Given the description of an element on the screen output the (x, y) to click on. 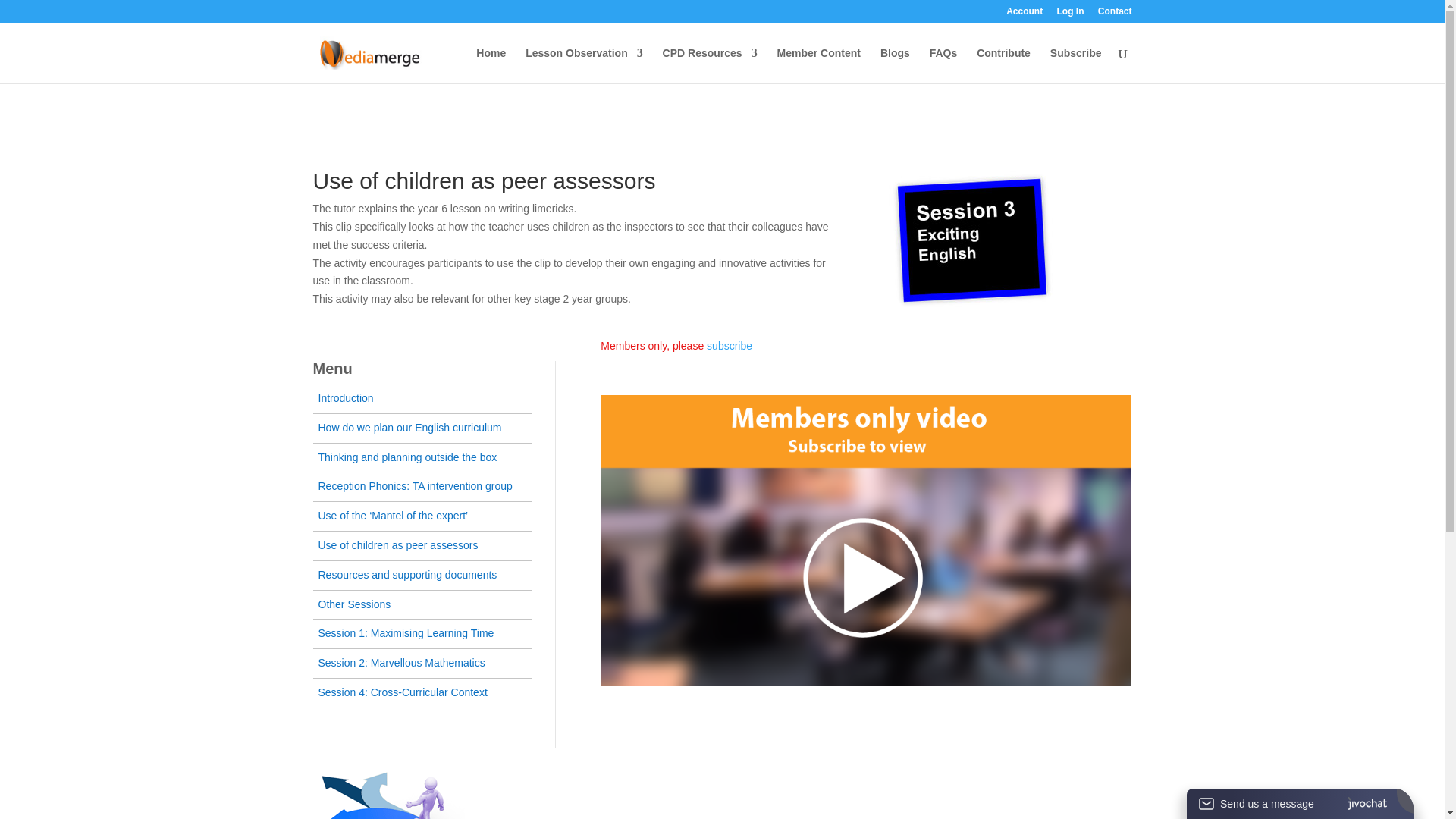
Account (1024, 14)
Log In (1070, 14)
Contact (1114, 14)
Introduction (346, 398)
CPD Resources (709, 65)
How do we plan our English curriculum (410, 427)
Lesson Observation (584, 65)
Thinking and planning outside the box (407, 457)
Contribute (1003, 65)
Subscribe (1075, 65)
Member Content (818, 65)
